Given the description of an element on the screen output the (x, y) to click on. 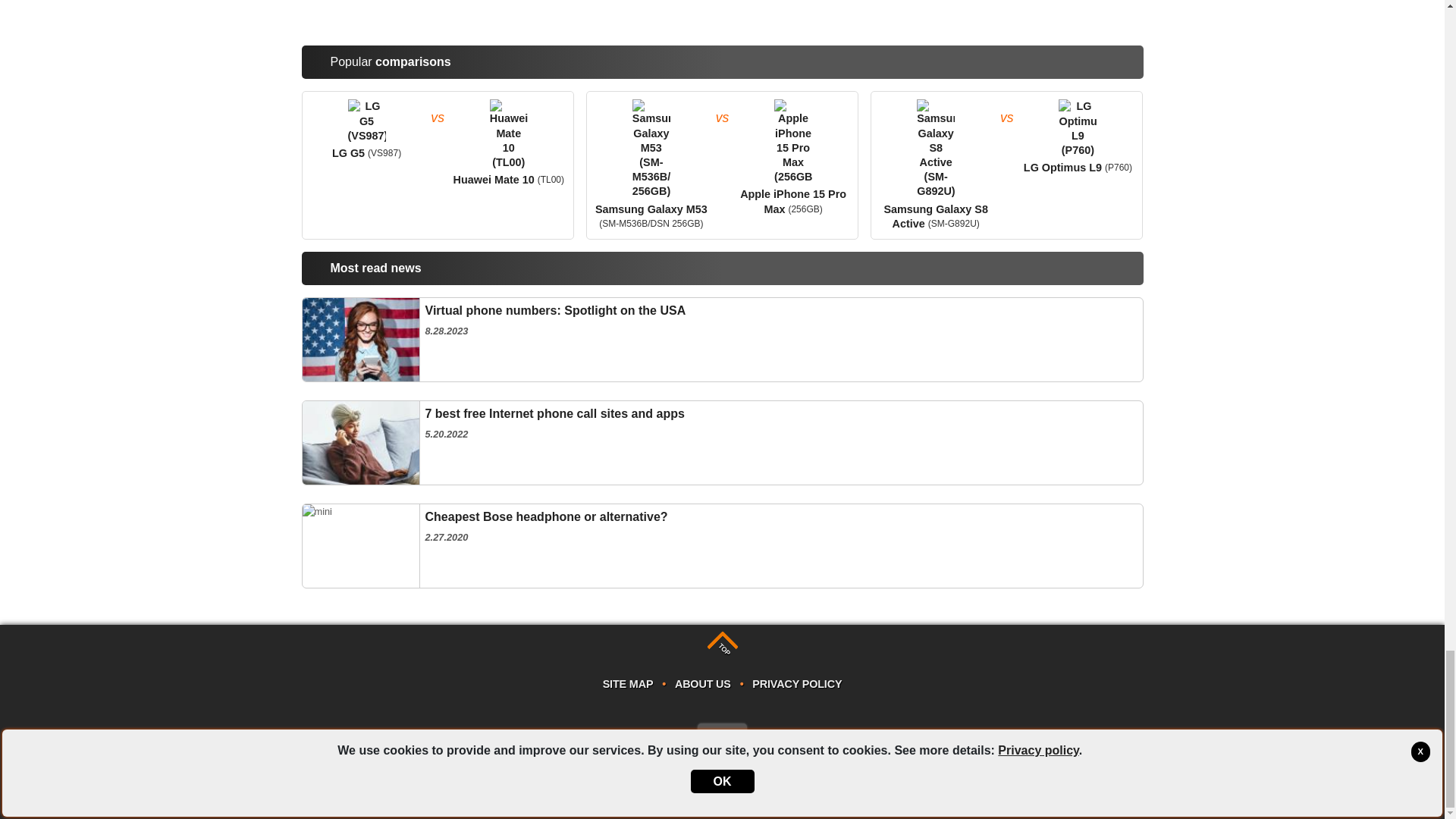
TOP (717, 641)
ENGLISH (721, 339)
PRIVACY POLICY (721, 442)
Advertisement (722, 734)
Popular comparisons (796, 684)
SITE MAP (721, 545)
ABOUT US (721, 13)
